Given the description of an element on the screen output the (x, y) to click on. 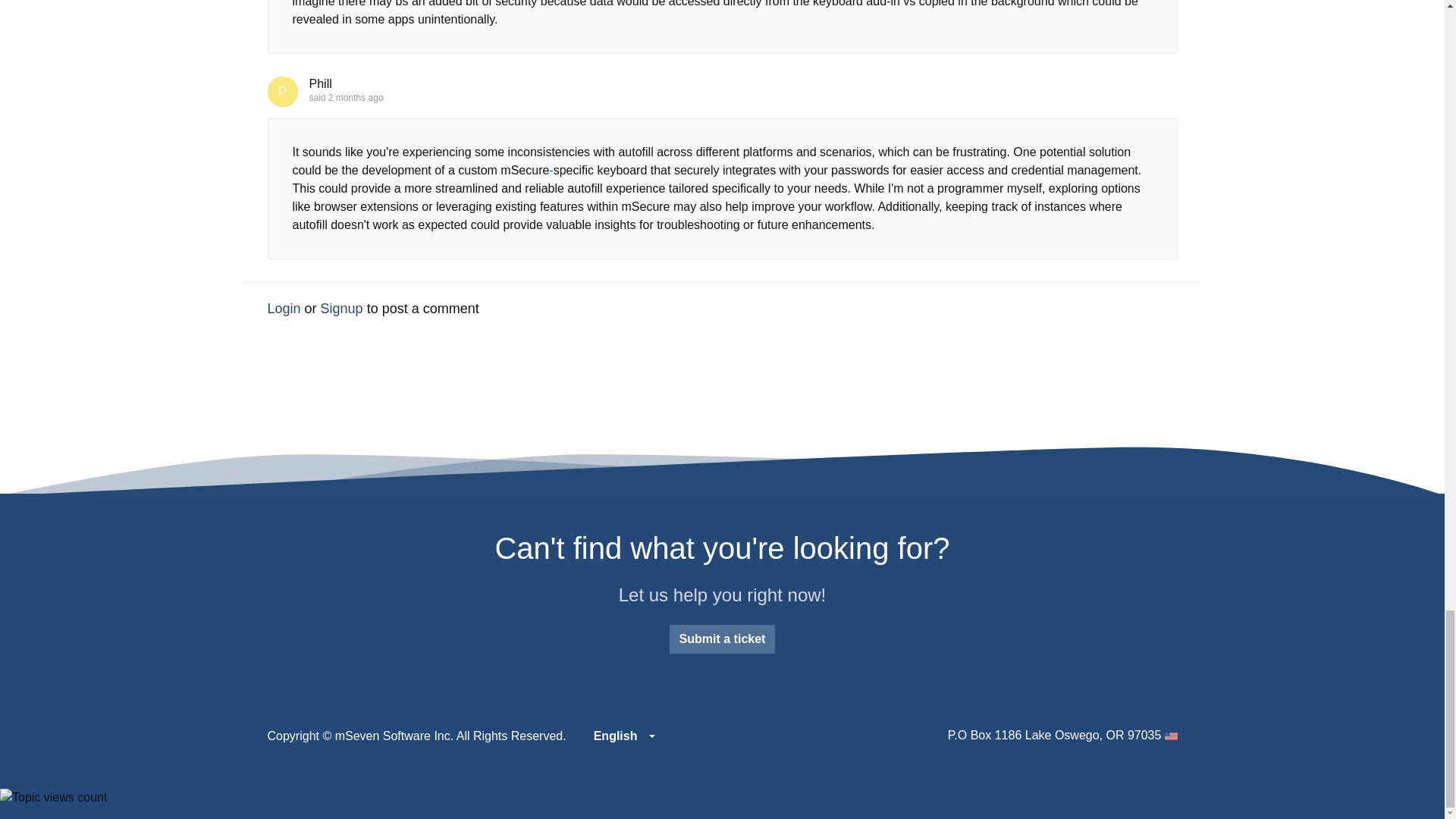
Mon, May 20, 2024 at  8:31 AM (356, 97)
Submit a ticket (722, 638)
Signup (341, 308)
Login (282, 308)
